Given the description of an element on the screen output the (x, y) to click on. 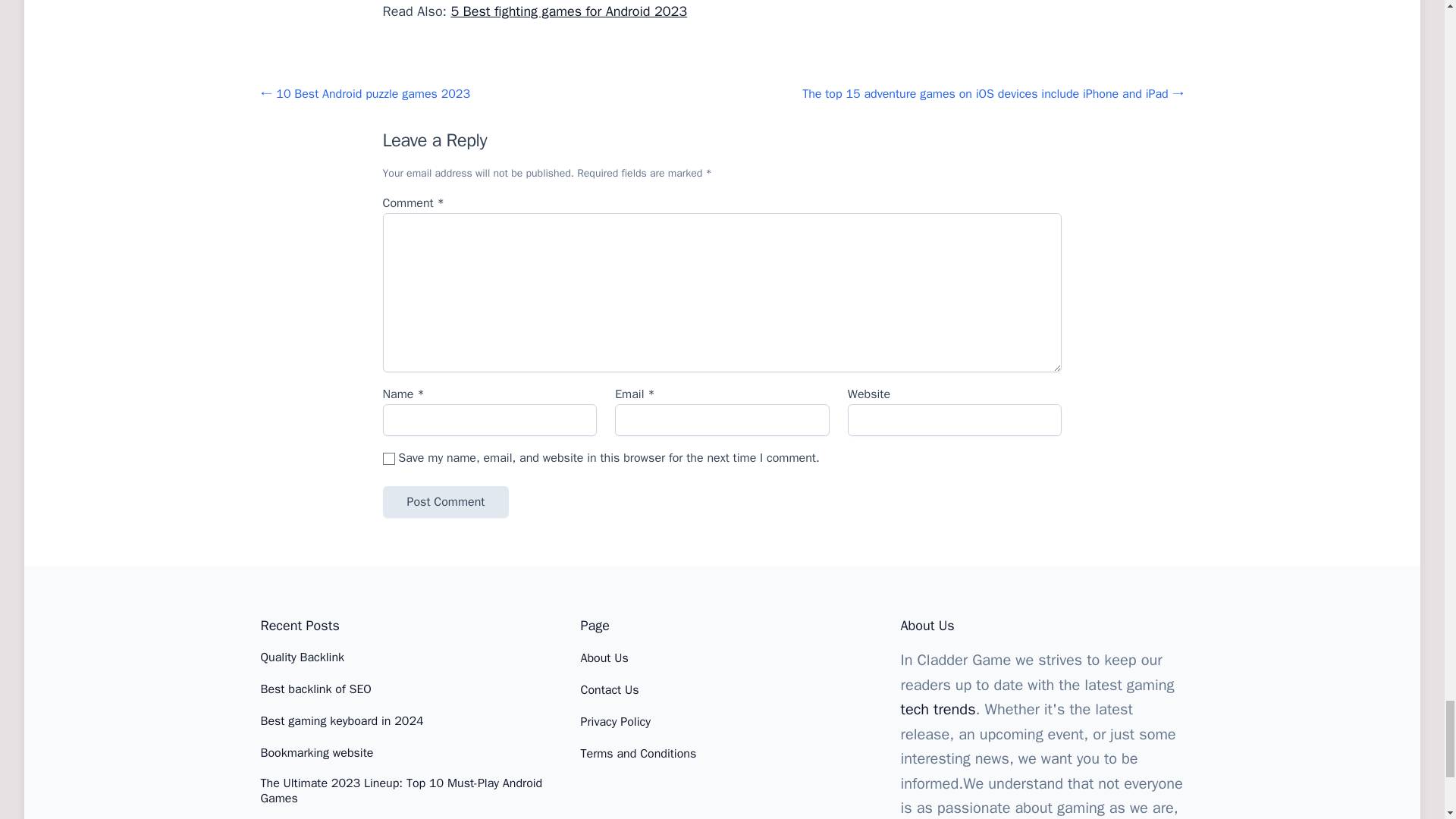
5 Best fighting games for Android 2023 (568, 11)
The Ultimate 2023 Lineup: Top 10 Must-Play Android Games (402, 790)
About Us (604, 657)
yes (387, 458)
Post Comment (444, 501)
Bookmarking website (317, 752)
Quality Backlink (302, 657)
Best gaming keyboard in 2024 (341, 720)
Post Comment (444, 501)
Best backlink of SEO (315, 688)
